Given the description of an element on the screen output the (x, y) to click on. 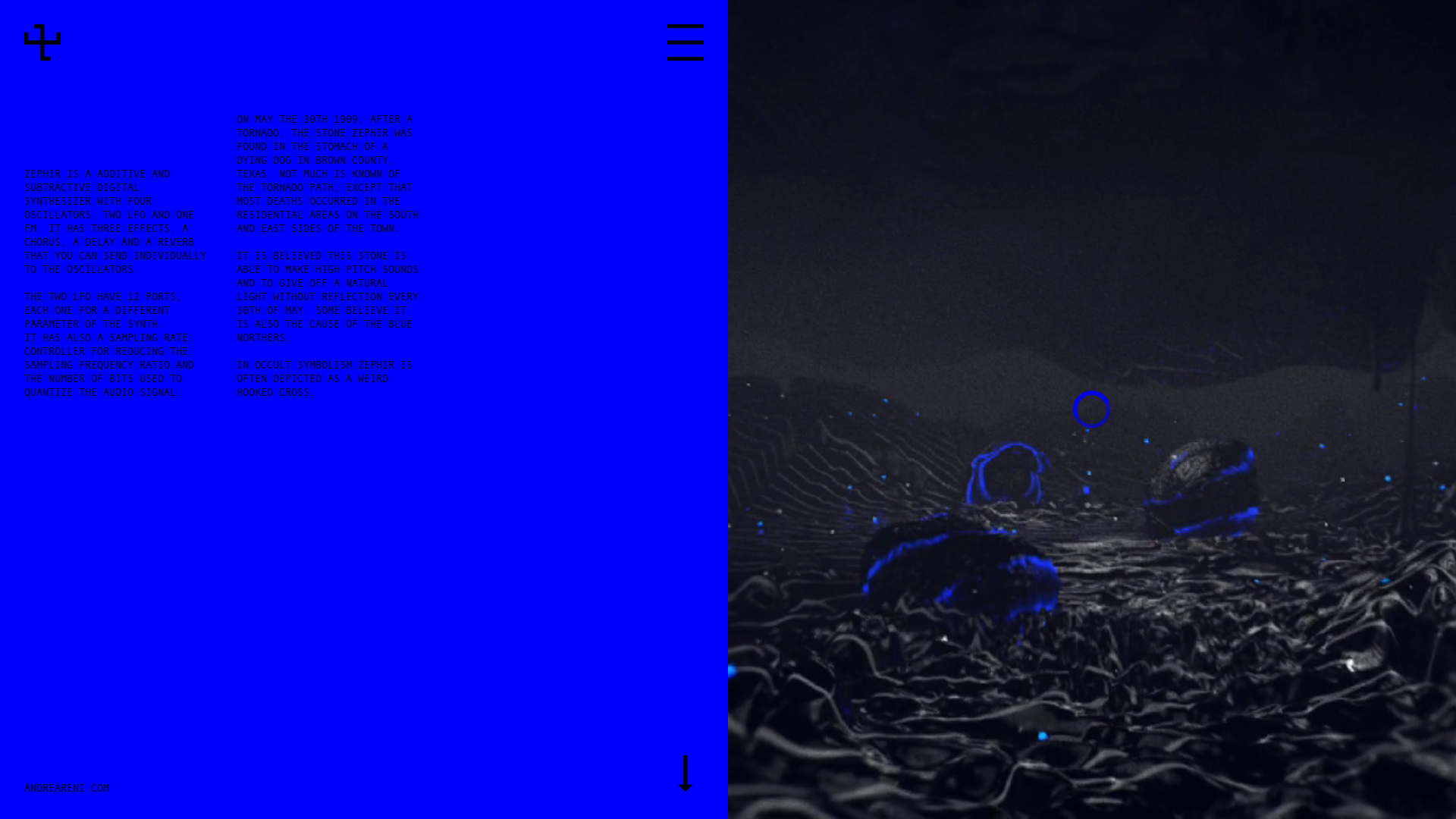
ANDREARENI.COM Element type: text (66, 787)
